Given the description of an element on the screen output the (x, y) to click on. 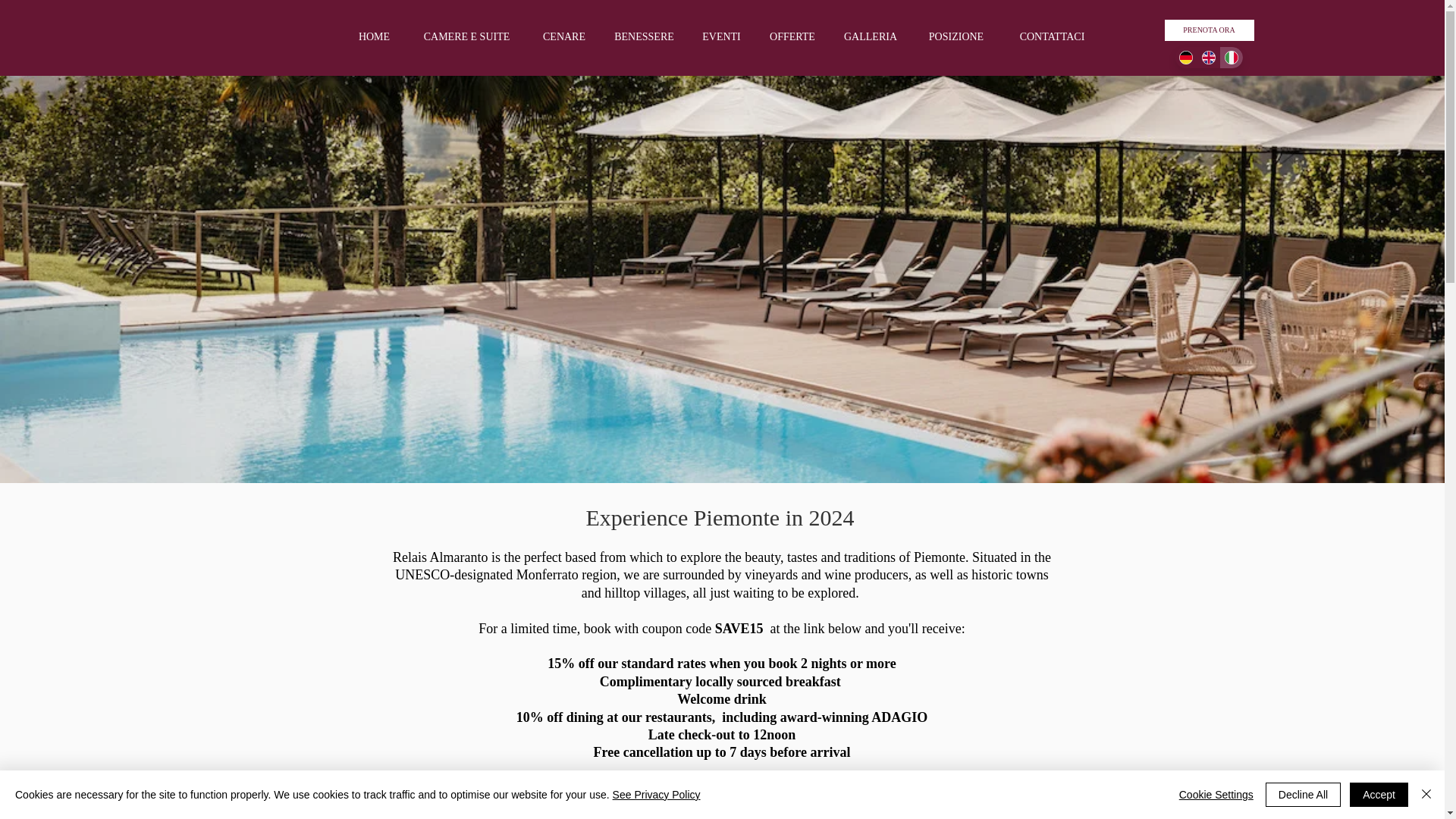
GALLERIA (870, 29)
POSIZIONE (956, 29)
BENESSERE (643, 29)
CONTATTACI (1051, 29)
HOME (373, 29)
PRENOTA ORA (1208, 29)
